Given the description of an element on the screen output the (x, y) to click on. 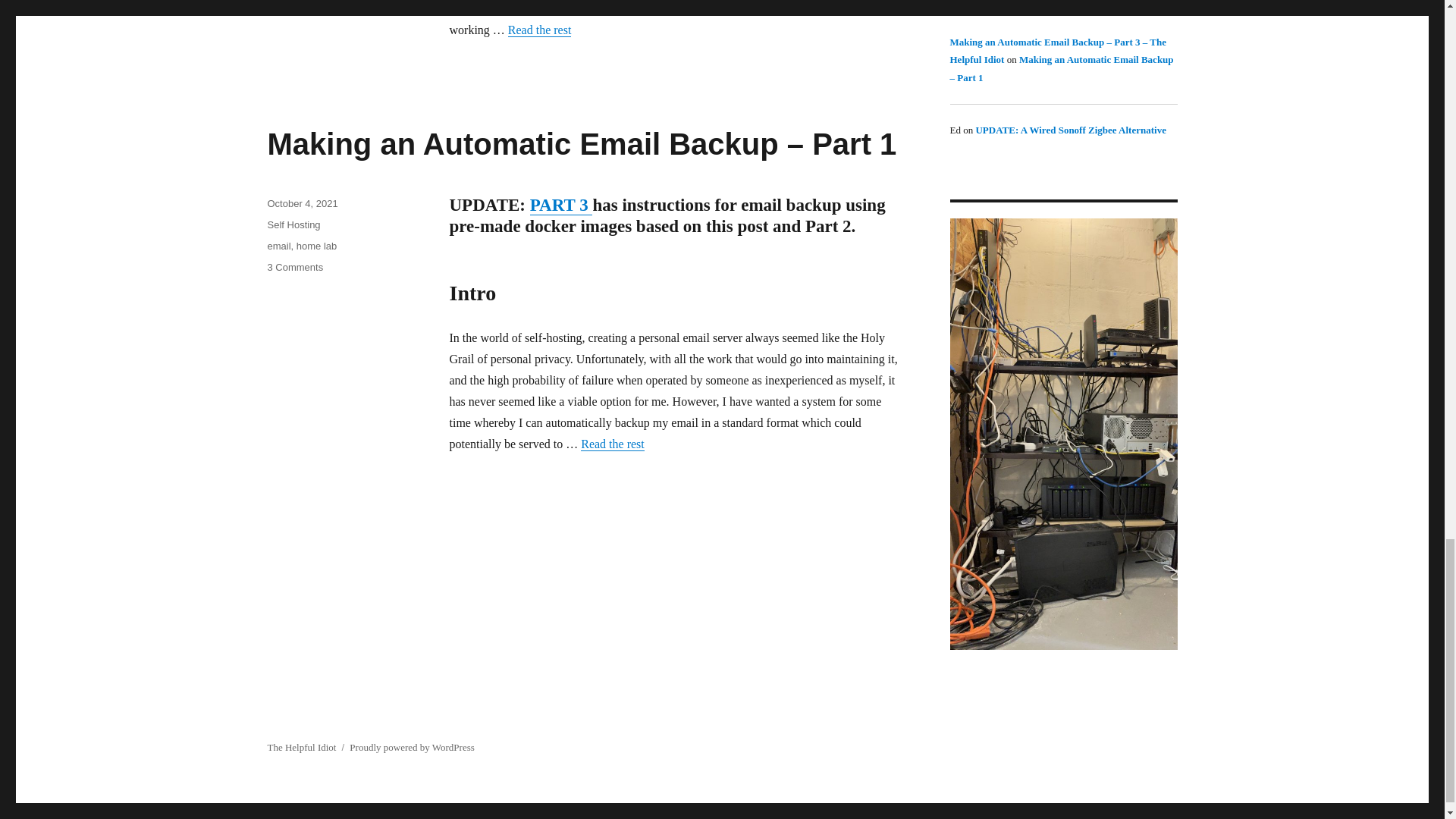
Self Hosting (293, 224)
Read the rest (540, 29)
email (277, 245)
home lab (316, 245)
October 4, 2021 (301, 203)
Read the rest (612, 443)
PART 3 (560, 204)
